Given the description of an element on the screen output the (x, y) to click on. 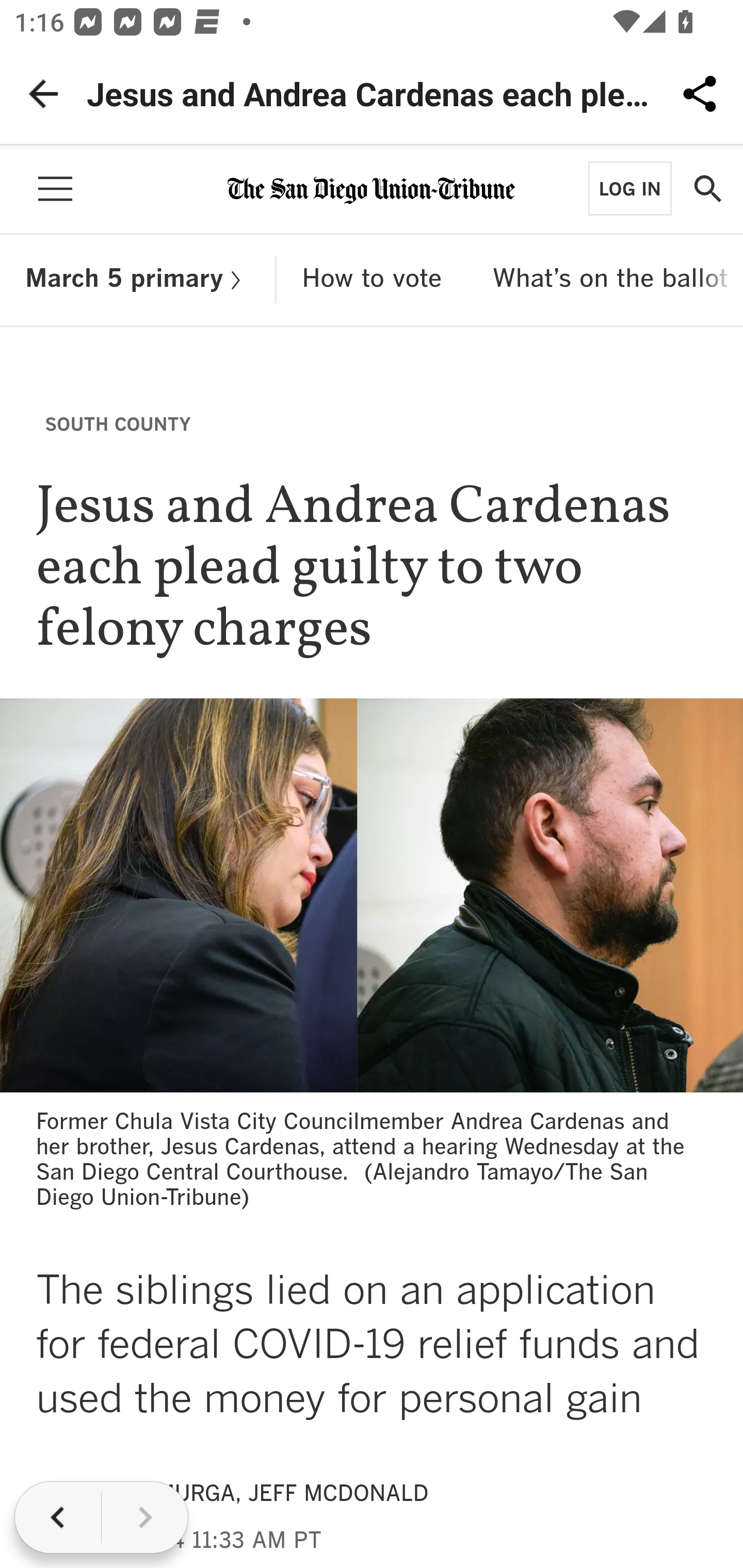
Sections (54, 188)
Show Search (707, 188)
Log In LOG IN (629, 187)
home page (371, 187)
March 5 primary  March 5 primary   (138, 279)
How to vote (371, 279)
What’s on the ballot (610, 279)
SOUTH COUNTY (117, 423)
